Given the description of an element on the screen output the (x, y) to click on. 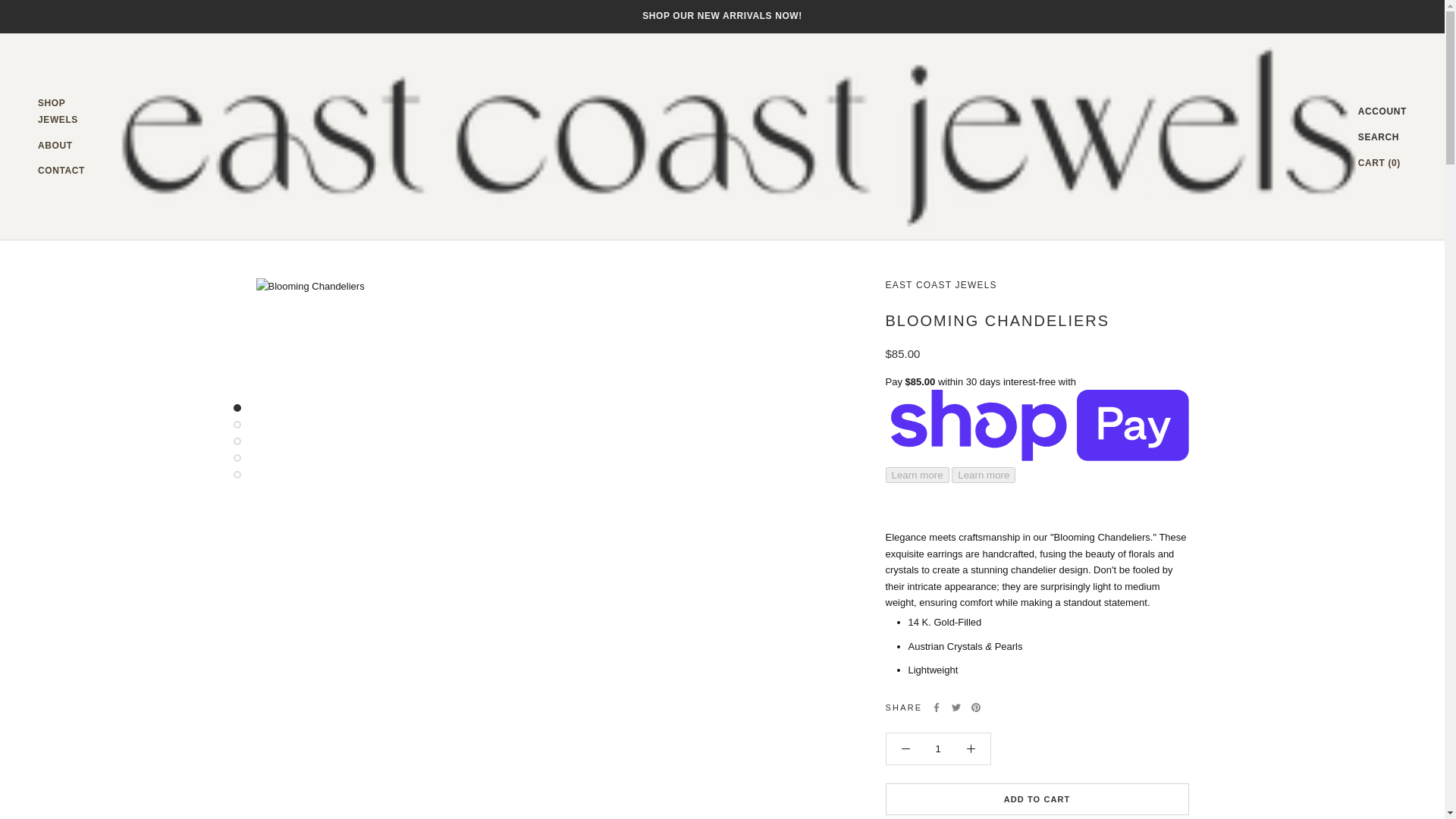
SHOP OUR NEW ARRIVALS NOW! (722, 15)
1 (57, 111)
